Given the description of an element on the screen output the (x, y) to click on. 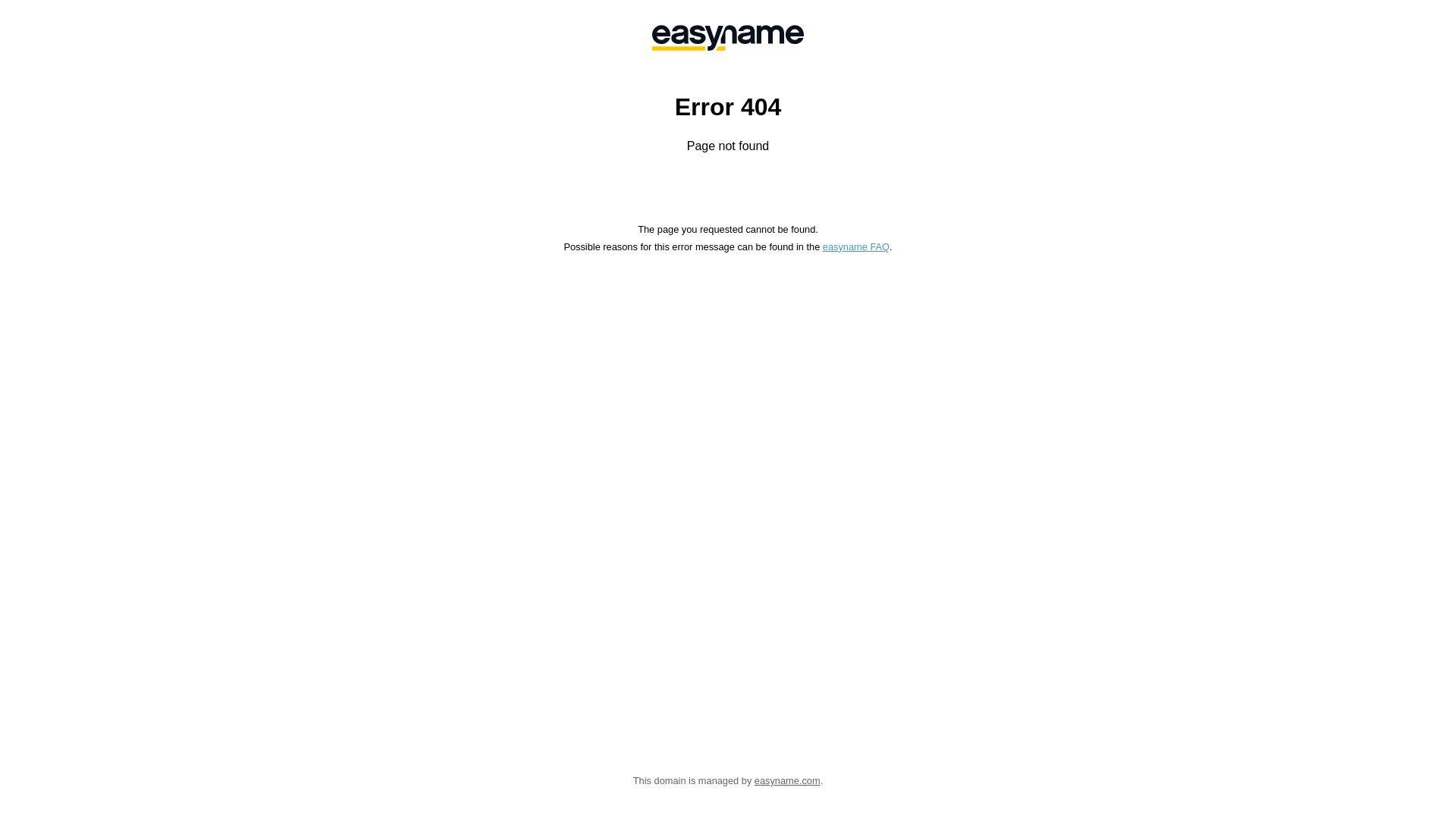
easyname GmbH Element type: hover (727, 37)
easyname.com Element type: text (787, 780)
easyname FAQ Element type: text (855, 246)
